Given the description of an element on the screen output the (x, y) to click on. 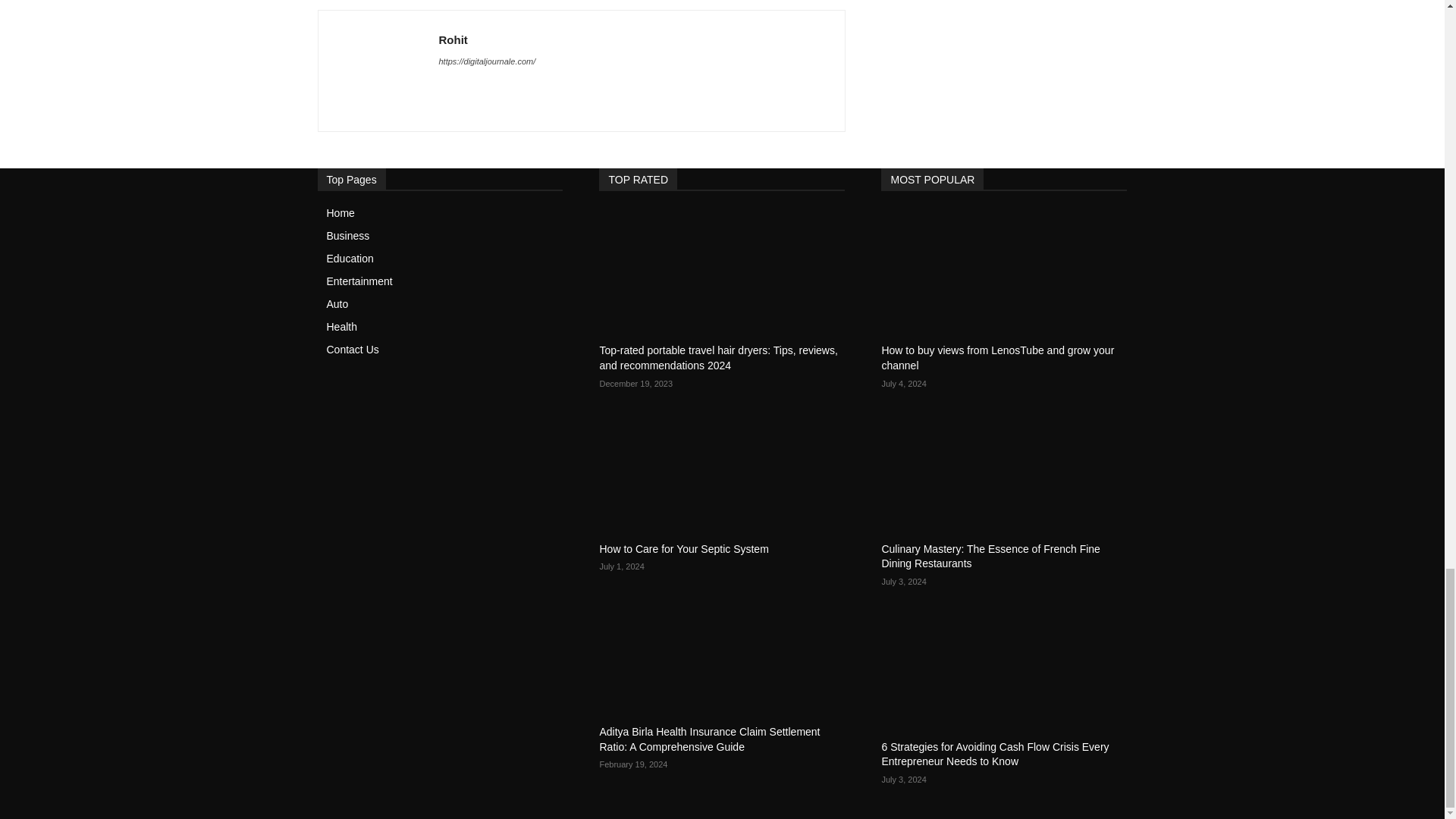
Rohit (377, 70)
Rohit (486, 39)
